Given the description of an element on the screen output the (x, y) to click on. 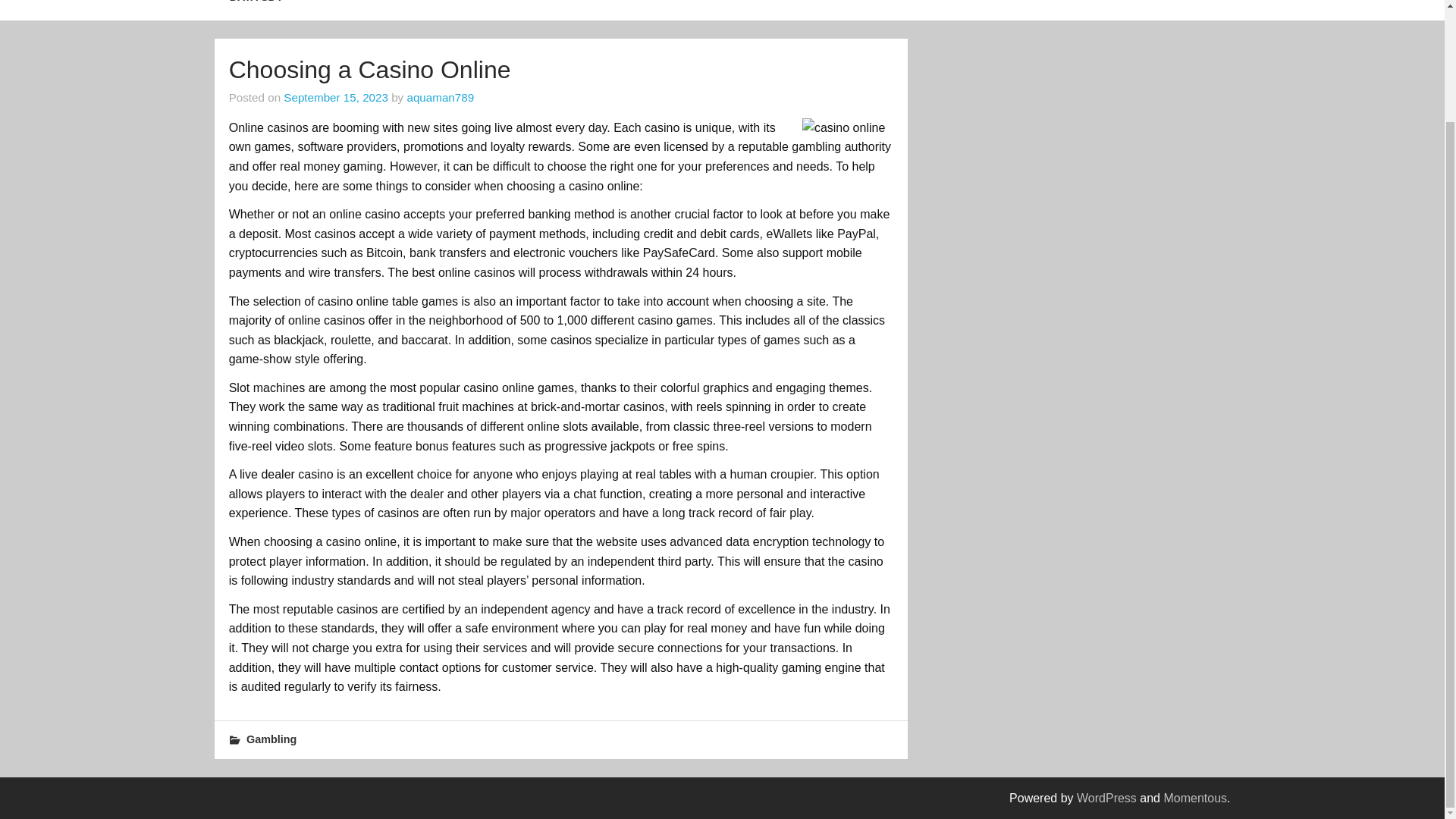
Gambling (271, 739)
Momentous WordPress Theme (1195, 797)
September 15, 2023 (335, 97)
11:39 am (335, 97)
Momentous (1195, 797)
aquaman789 (440, 97)
DATA SDY (256, 9)
WordPress (1107, 797)
View all posts by aquaman789 (440, 97)
WordPress (1107, 797)
